Given the description of an element on the screen output the (x, y) to click on. 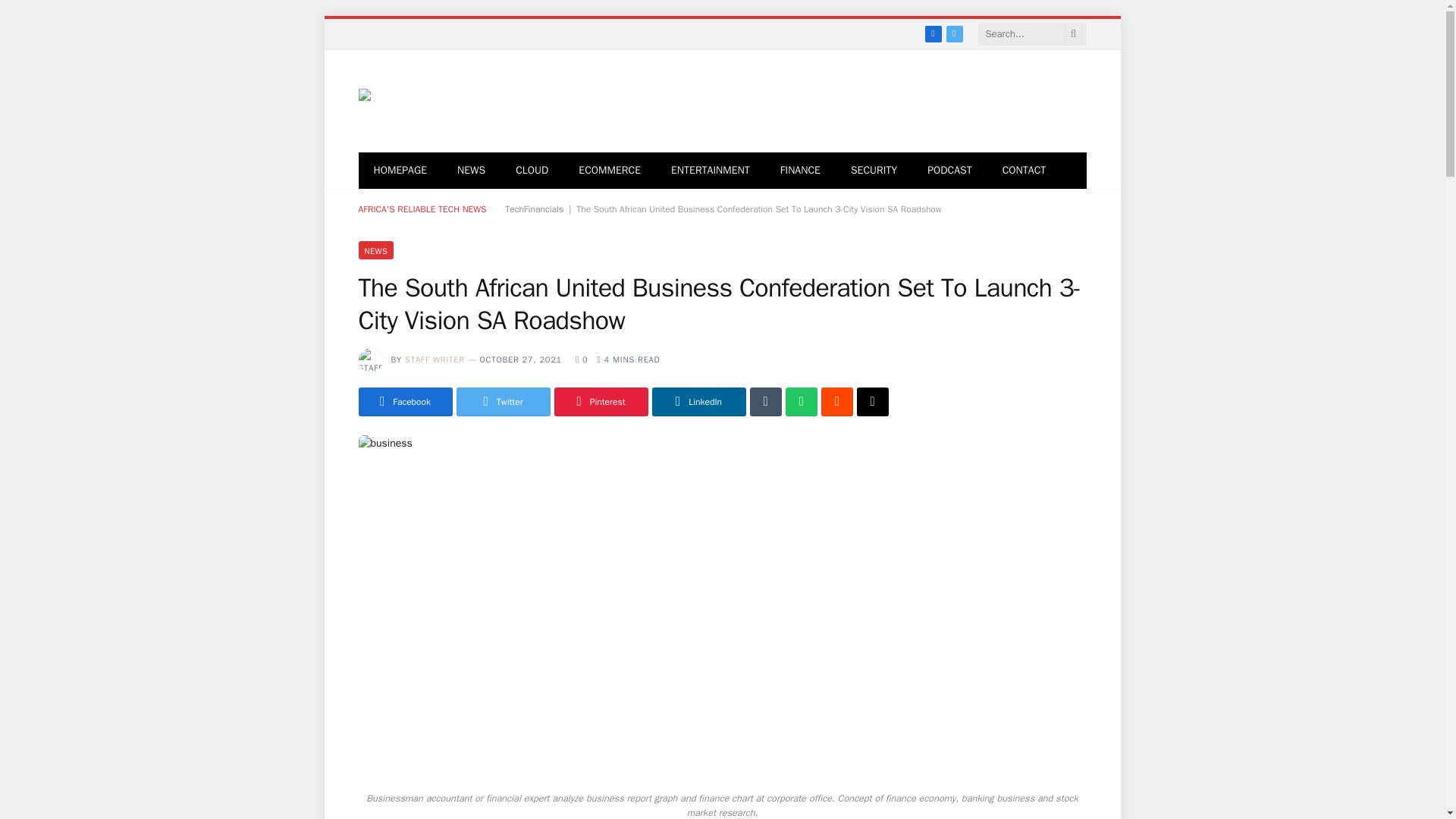
CLOUD (531, 170)
TechFinancials (534, 209)
TechFinancials (441, 100)
FINANCE (800, 170)
CONTACT (1024, 170)
PODCAST (949, 170)
Facebook (933, 33)
NEWS (471, 170)
SECURITY (873, 170)
ENTERTAINMENT (710, 170)
